Given the description of an element on the screen output the (x, y) to click on. 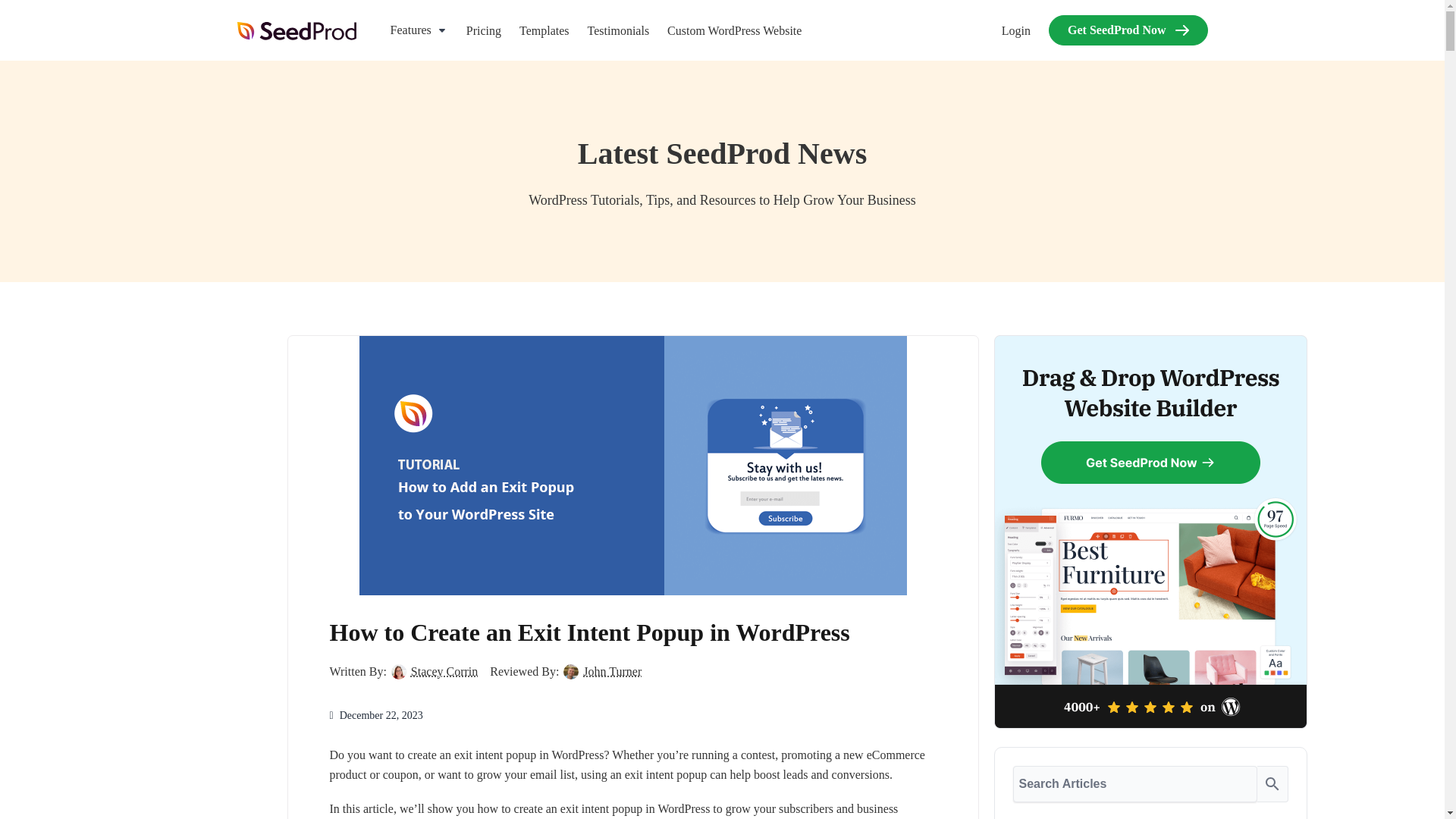
Features (419, 30)
SeedProd (295, 29)
Testimonials (618, 30)
Login (1015, 30)
Templates (544, 30)
Custom WordPress Website (734, 30)
Get SeedProd Now (1127, 30)
Pricing (482, 30)
